Given the description of an element on the screen output the (x, y) to click on. 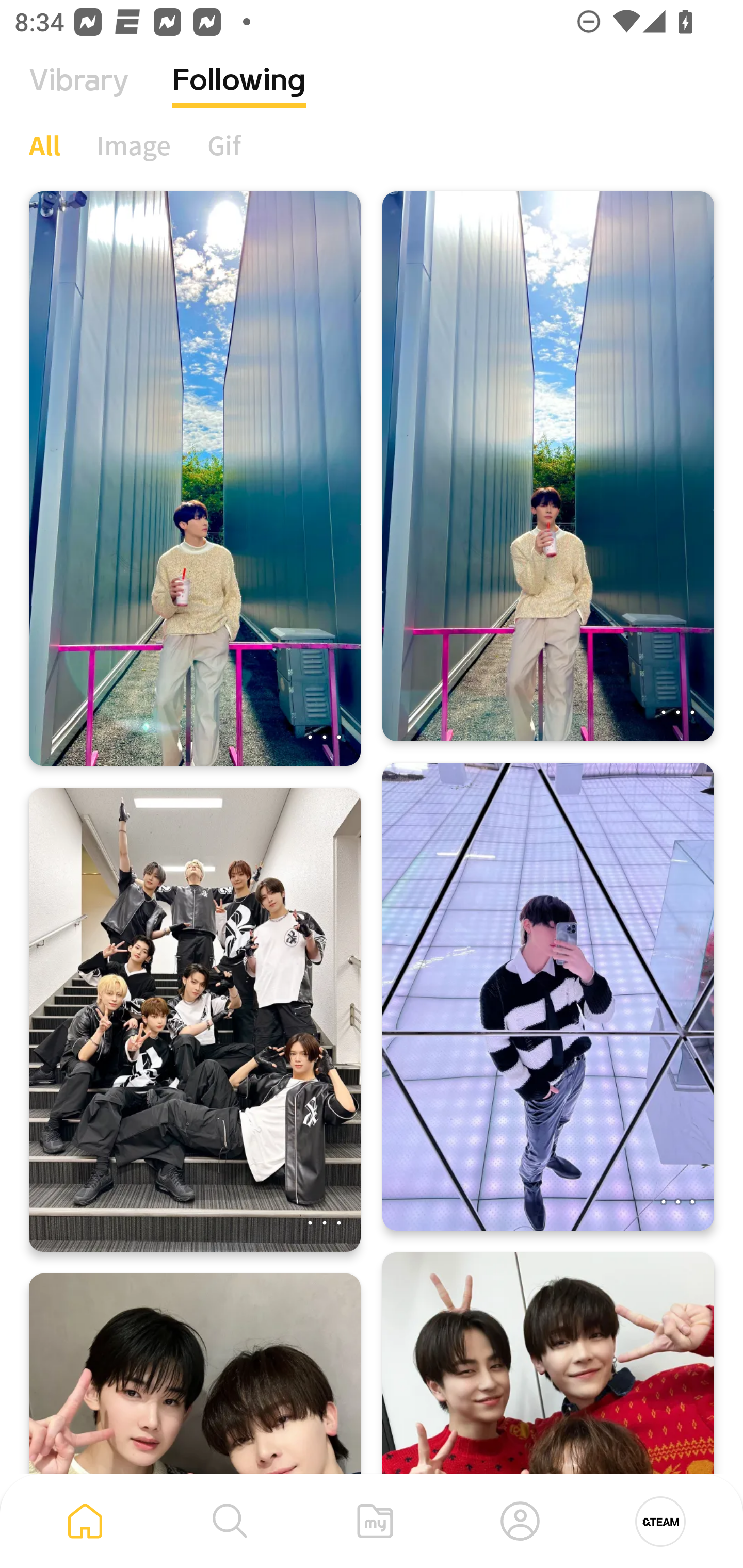
Vibrary (78, 95)
Following (239, 95)
All (44, 145)
Image (133, 145)
Gif (223, 145)
